Given the description of an element on the screen output the (x, y) to click on. 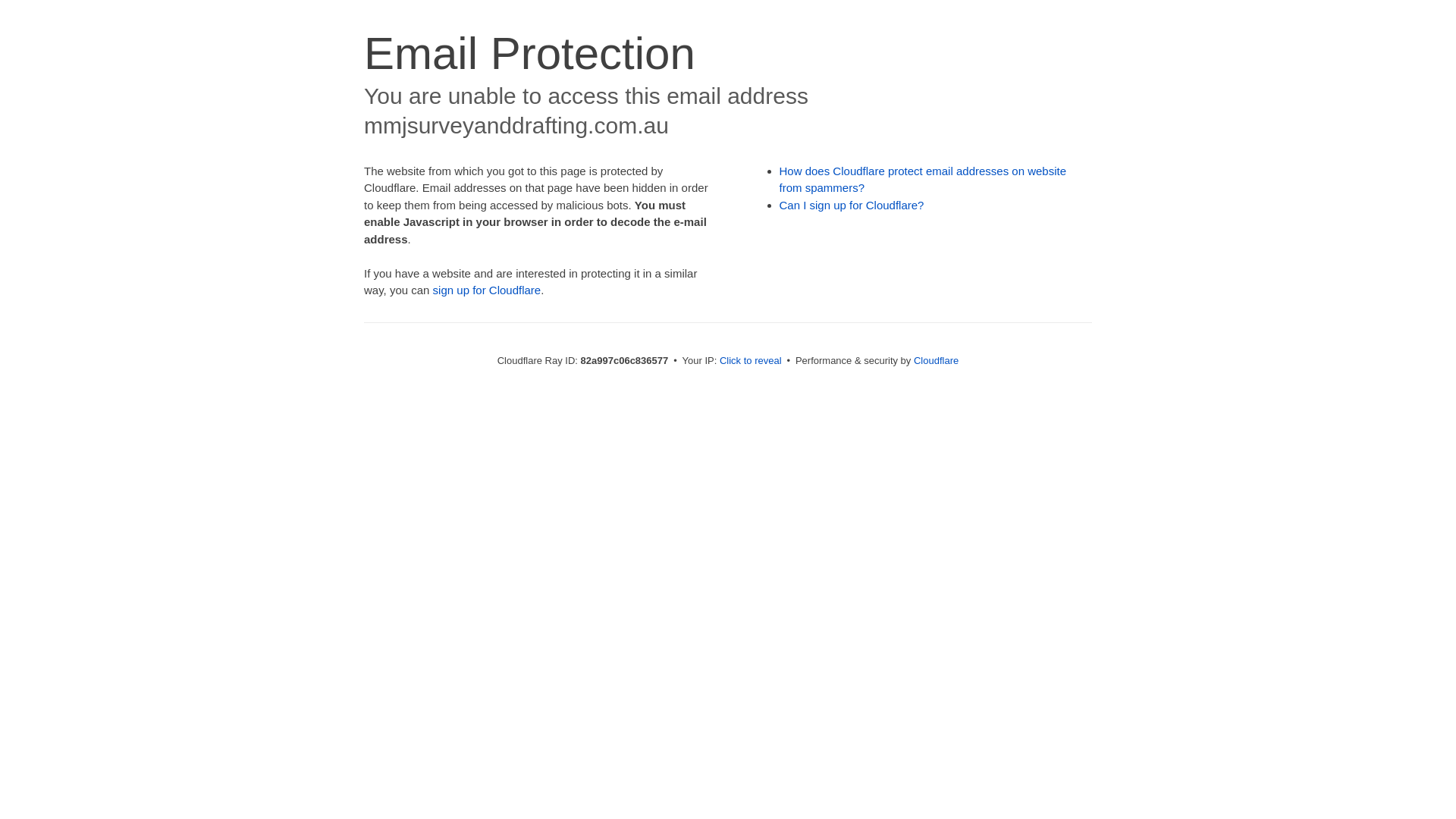
sign up for Cloudflare Element type: text (487, 289)
Cloudflare Element type: text (935, 360)
Can I sign up for Cloudflare? Element type: text (851, 204)
Click to reveal Element type: text (750, 360)
